Given the description of an element on the screen output the (x, y) to click on. 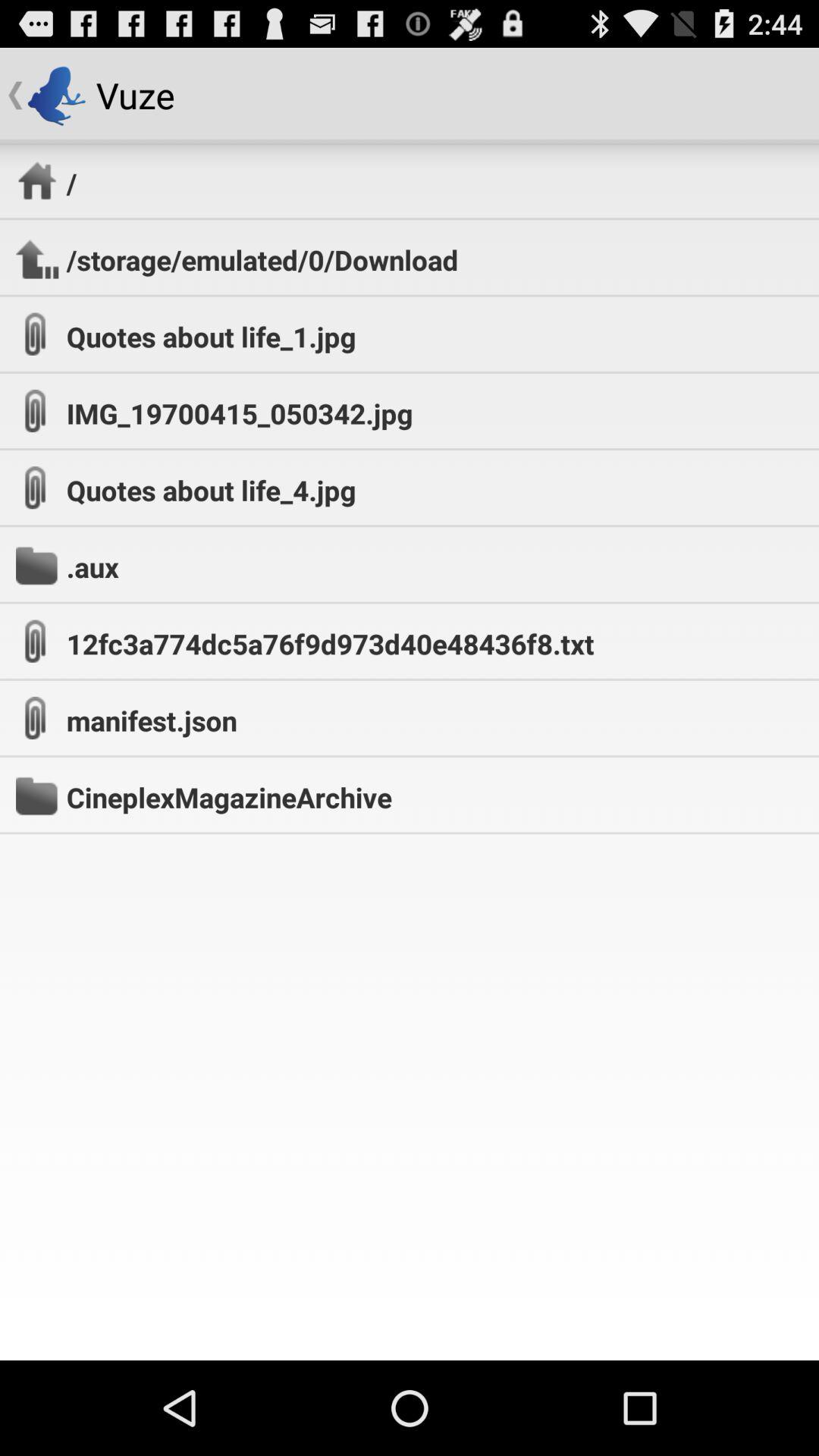
tap / app (71, 182)
